Given the description of an element on the screen output the (x, y) to click on. 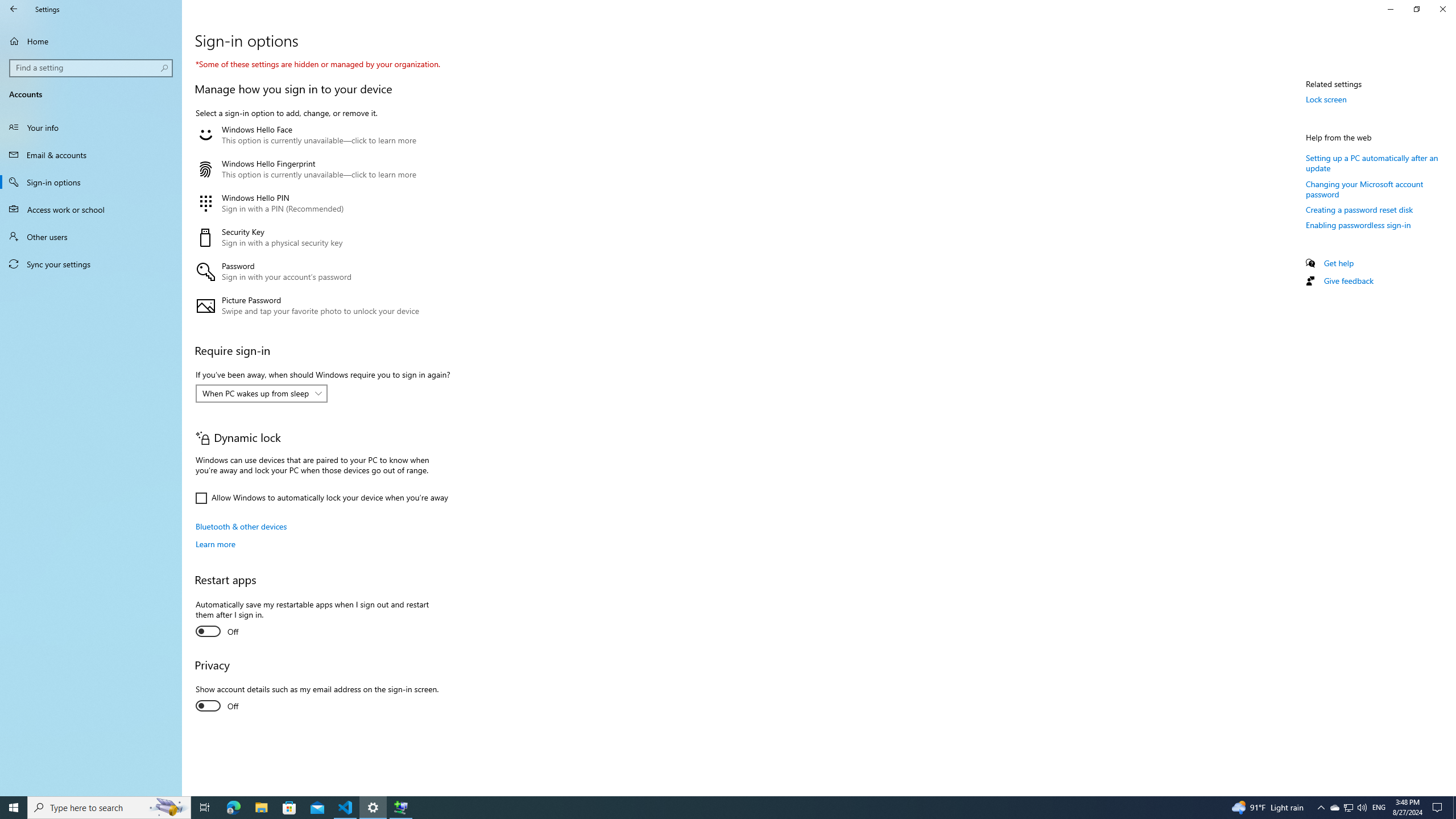
Minimize Settings (1390, 9)
Learn more (215, 543)
Settings - 1 running window (373, 807)
Close Settings (1442, 9)
Bluetooth & other devices (240, 525)
Restore Settings (1416, 9)
